Given the description of an element on the screen output the (x, y) to click on. 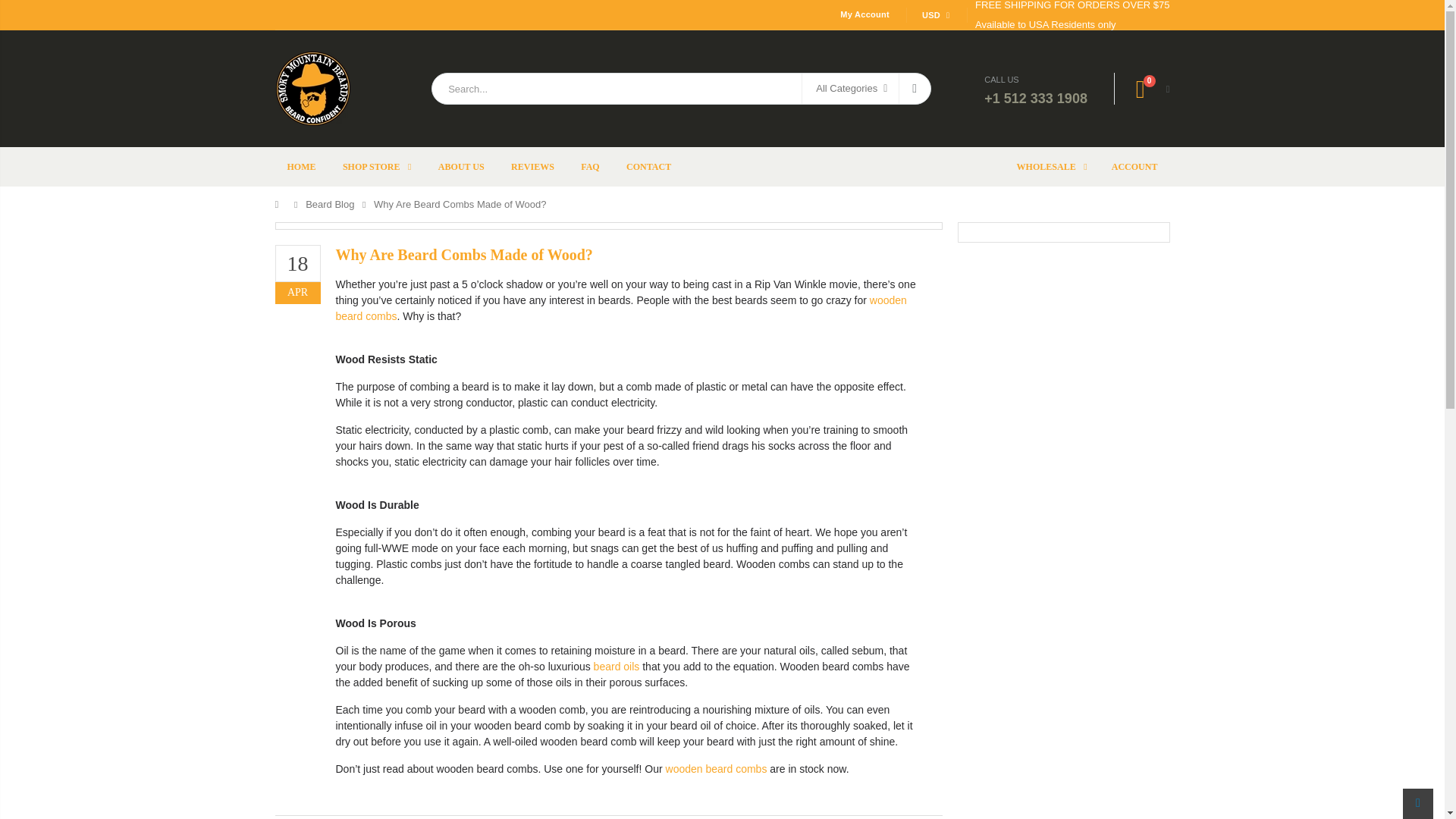
HOME (301, 166)
All Categories (850, 88)
All Categories (850, 88)
My Account (864, 13)
REVIEWS (532, 166)
SHOP STORE (376, 166)
ABOUT US (461, 166)
ACCOUNT (1134, 166)
USD (934, 14)
WHOLESALE (1051, 166)
